Given the description of an element on the screen output the (x, y) to click on. 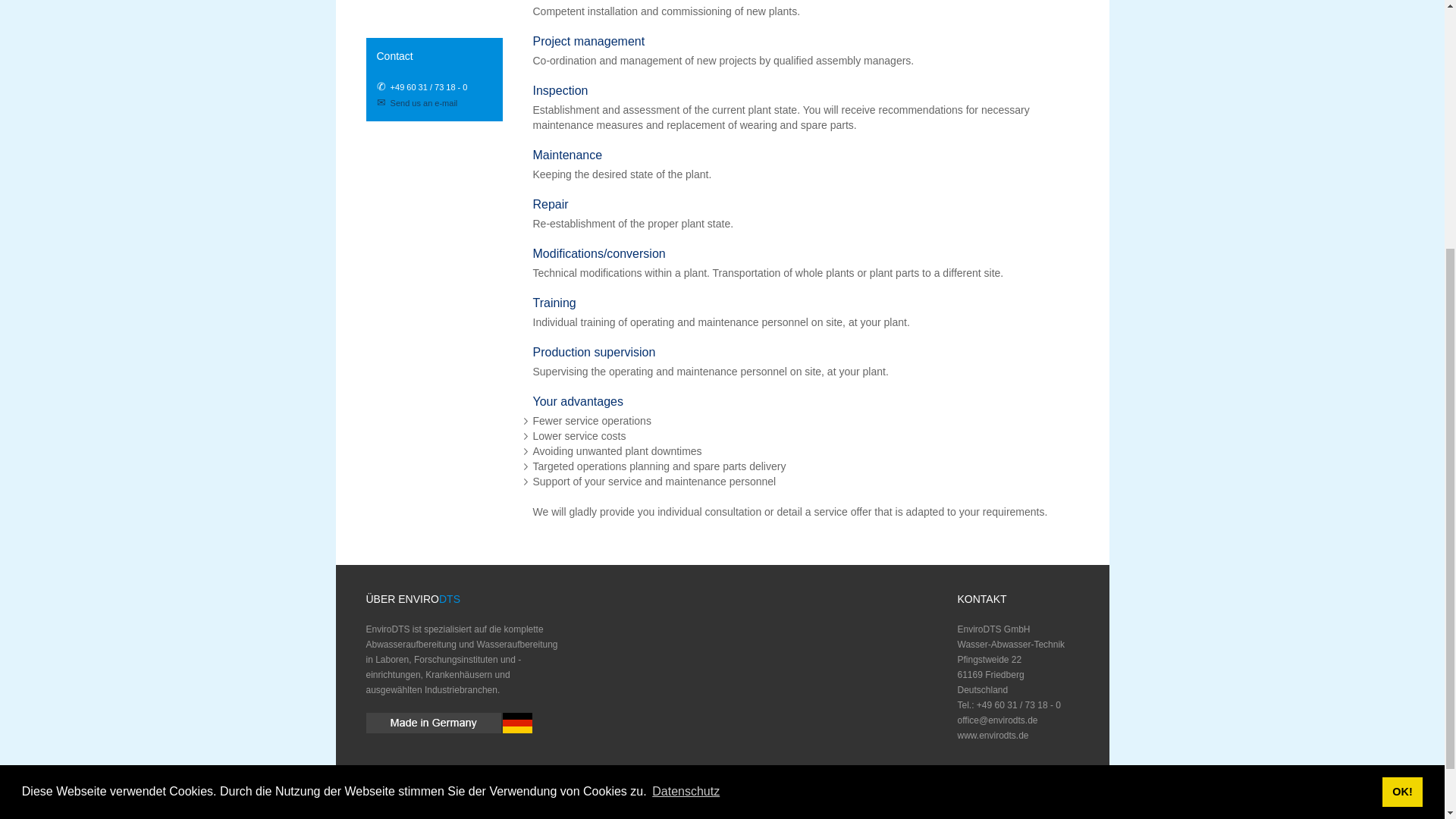
OK! (1401, 417)
Datenschutz (685, 416)
